Given the description of an element on the screen output the (x, y) to click on. 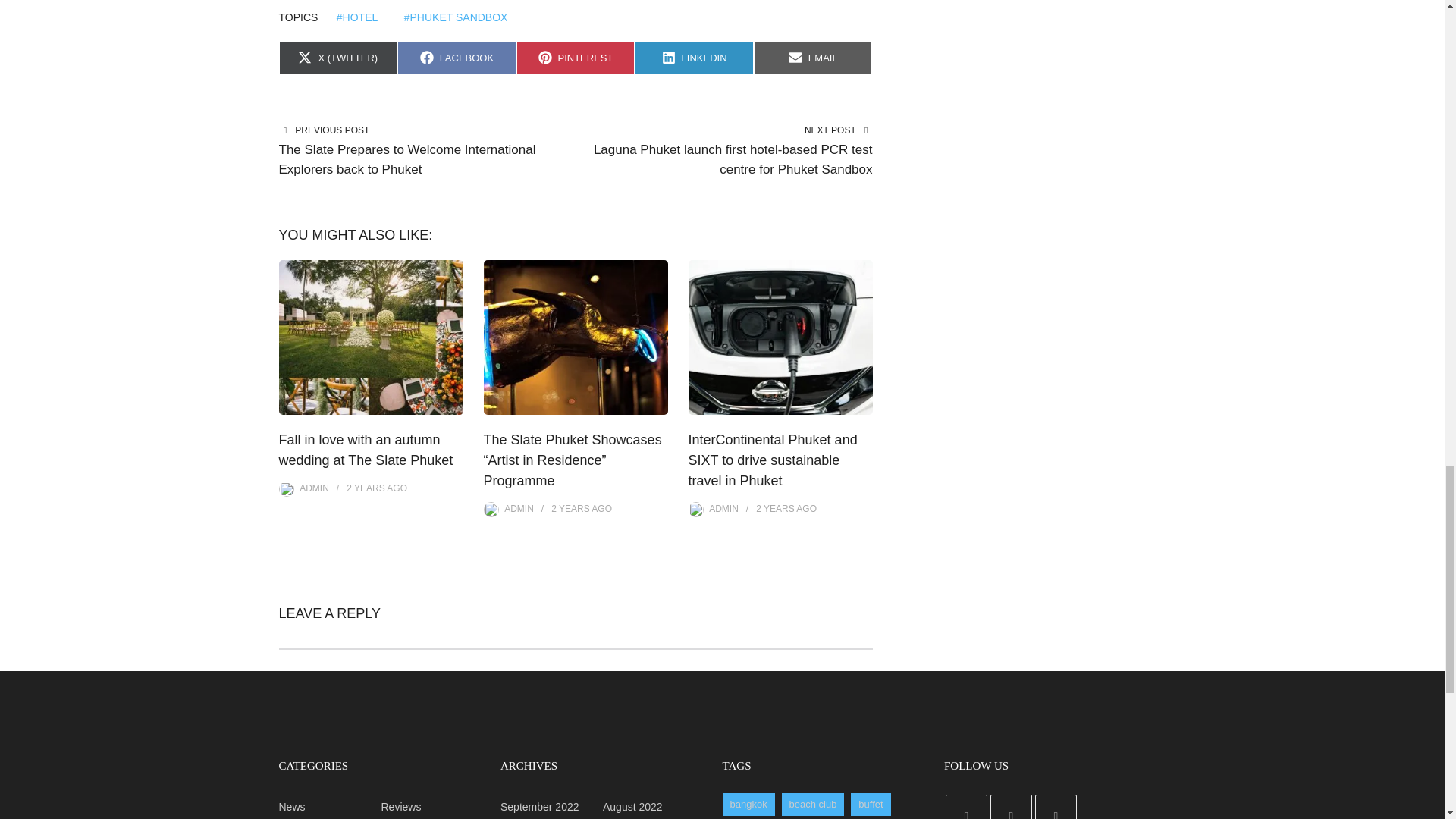
2 YEARS (774, 508)
2 YEARS (365, 488)
Fall in love with an autumn wedding at The Slate Phuket (365, 449)
2 YEARS (570, 508)
ADMIN (694, 57)
ADMIN (314, 488)
Comment Form (813, 57)
ADMIN (575, 57)
